Given the description of an element on the screen output the (x, y) to click on. 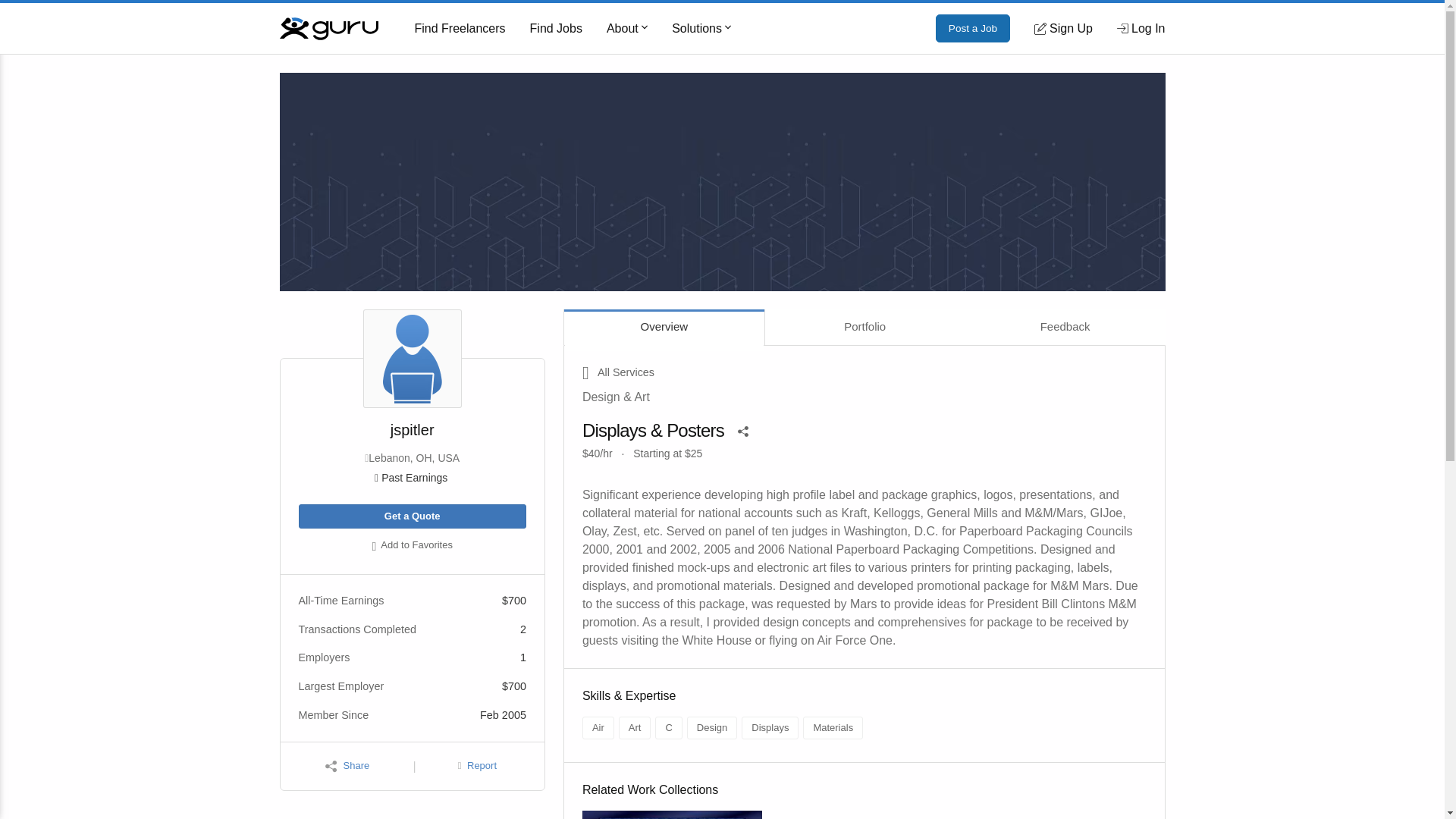
Sign Up (1063, 28)
Log In (1140, 28)
Find a Job (555, 28)
Share (347, 766)
Add to Favorites (411, 546)
Find Freelancers (459, 28)
Find Jobs (555, 28)
Post a Job (973, 28)
Get a Quote (411, 516)
Report (477, 766)
